Given the description of an element on the screen output the (x, y) to click on. 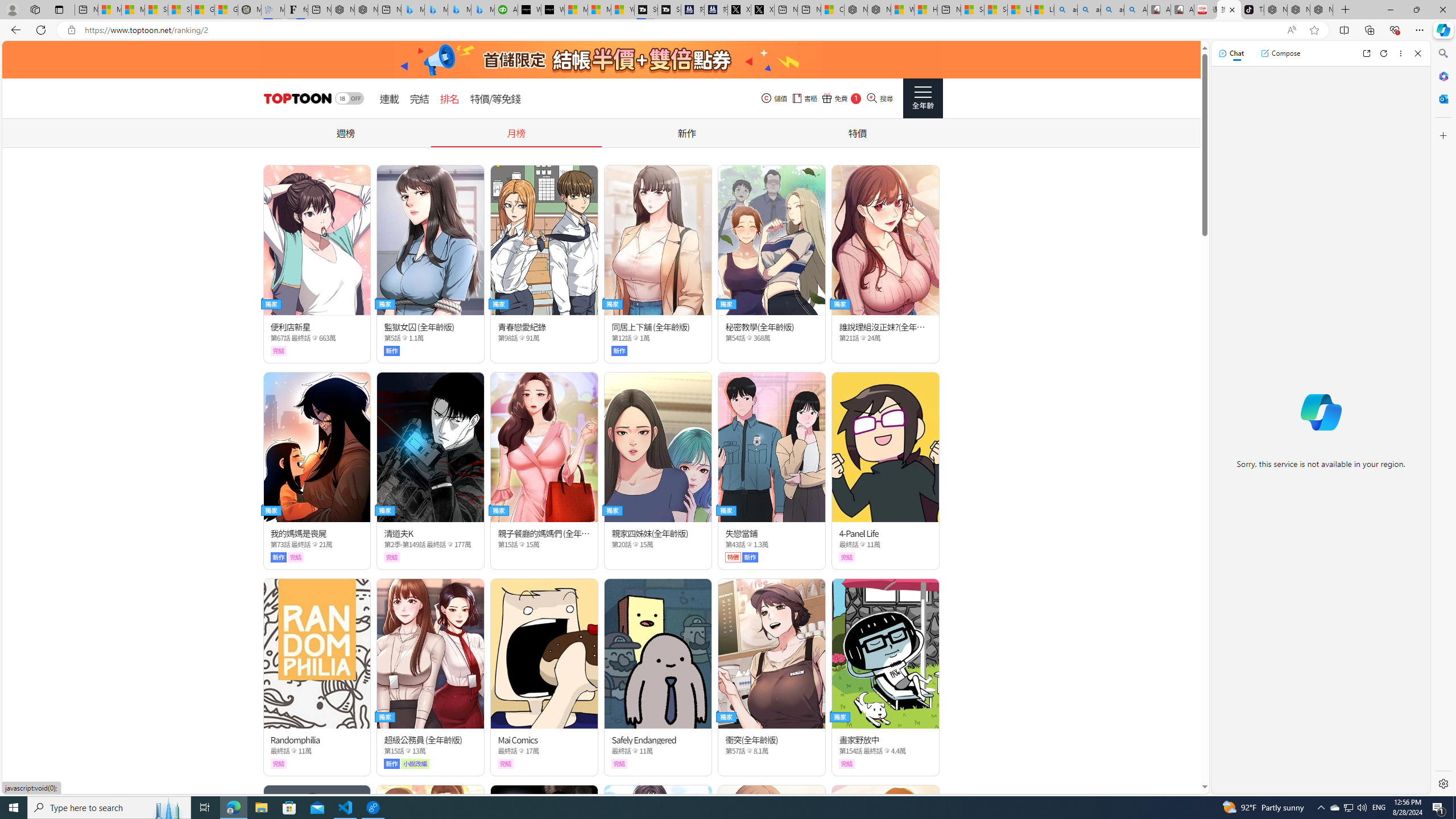
Accounting Software for Accountants, CPAs and Bookkeepers (505, 9)
Gilma and Hector both pose tropical trouble for Hawaii (226, 9)
Customize (1442, 135)
Nordace - Siena Pro 15 Essential Set (1321, 9)
